Given the description of an element on the screen output the (x, y) to click on. 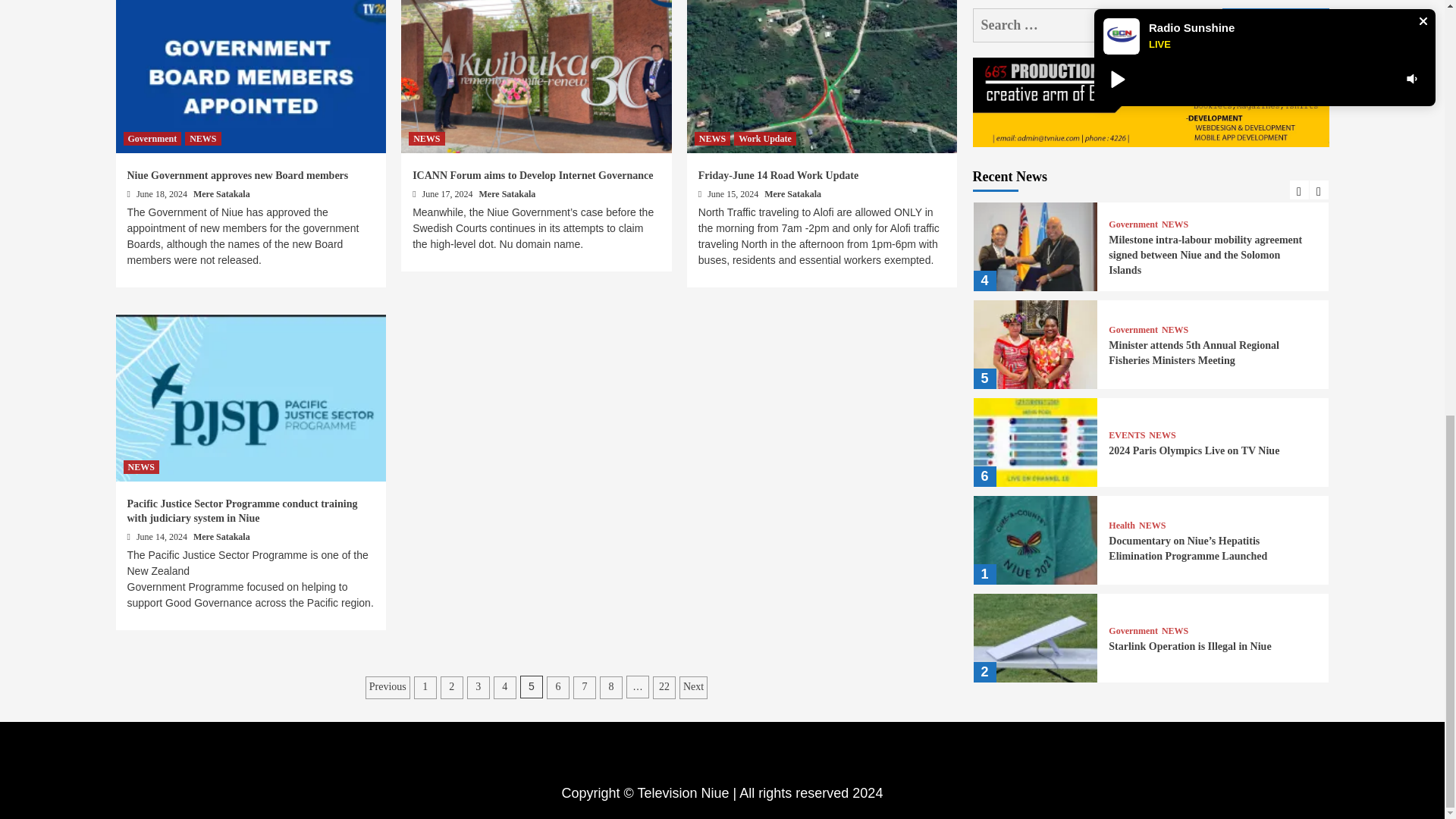
Government (151, 138)
